Given the description of an element on the screen output the (x, y) to click on. 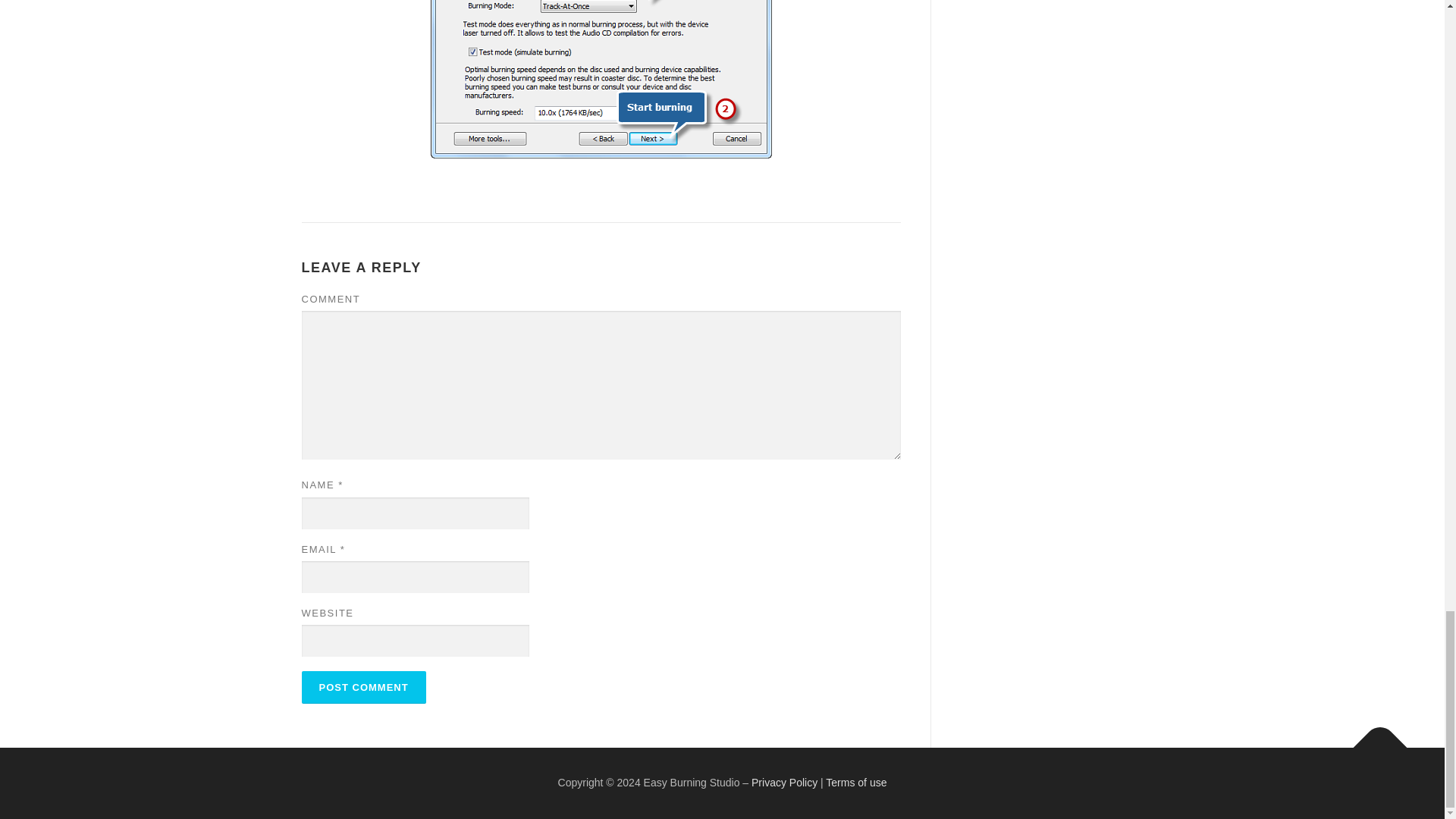
Post Comment (363, 686)
Back To Top (1372, 739)
Post Comment (363, 686)
